Given the description of an element on the screen output the (x, y) to click on. 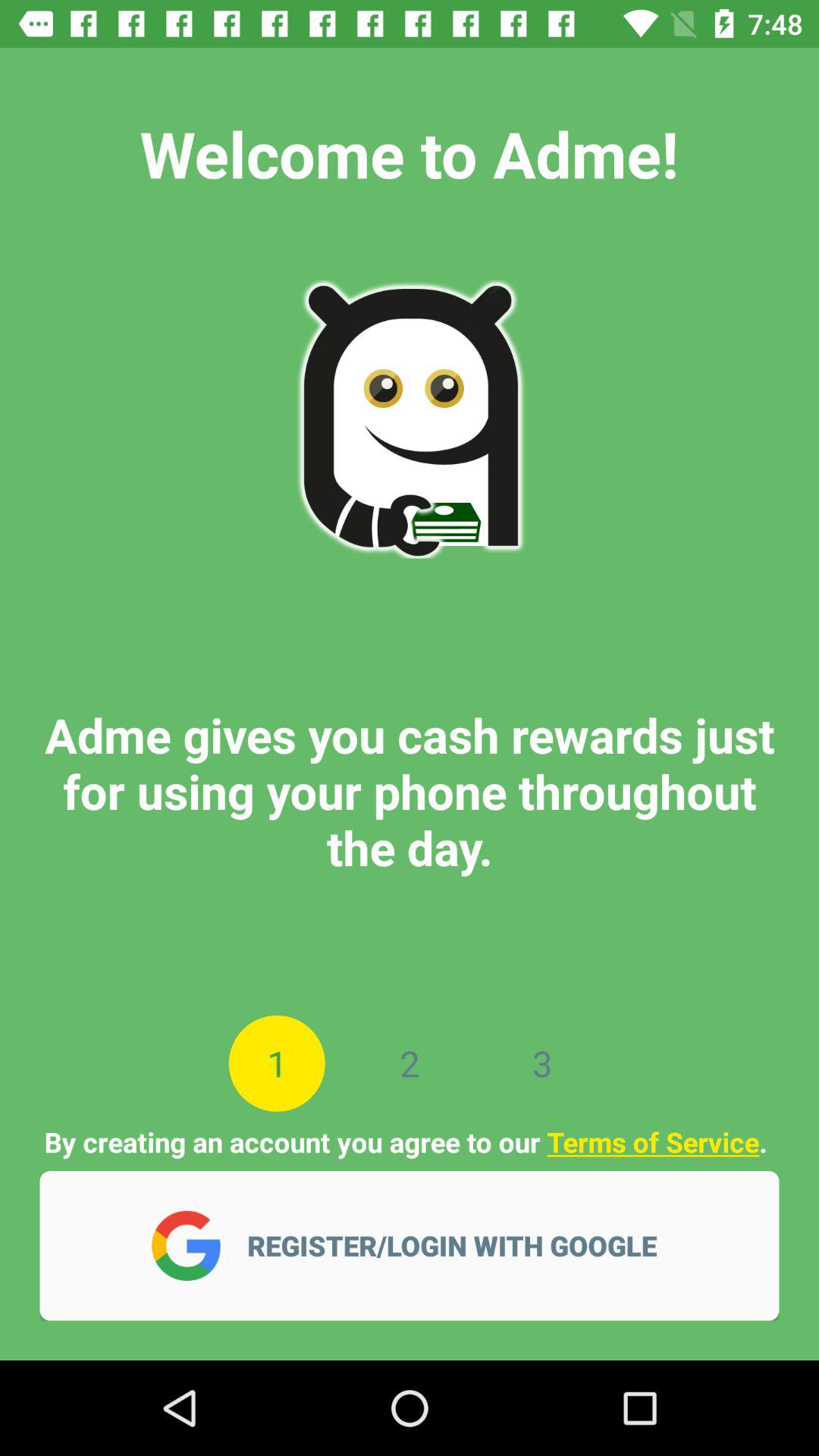
swipe until 3 app (542, 1063)
